Given the description of an element on the screen output the (x, y) to click on. 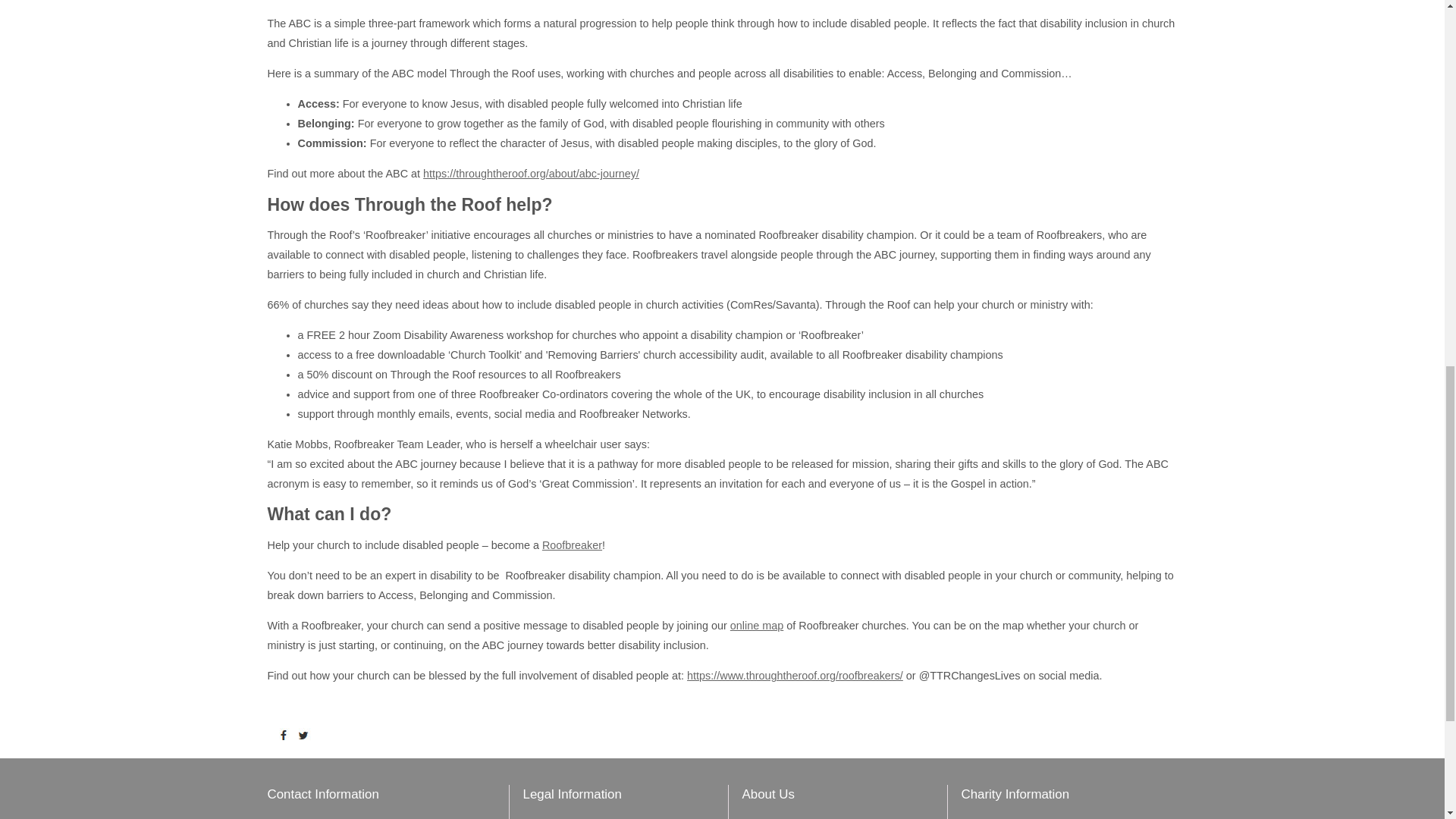
Share on Facebook (286, 735)
